Given the description of an element on the screen output the (x, y) to click on. 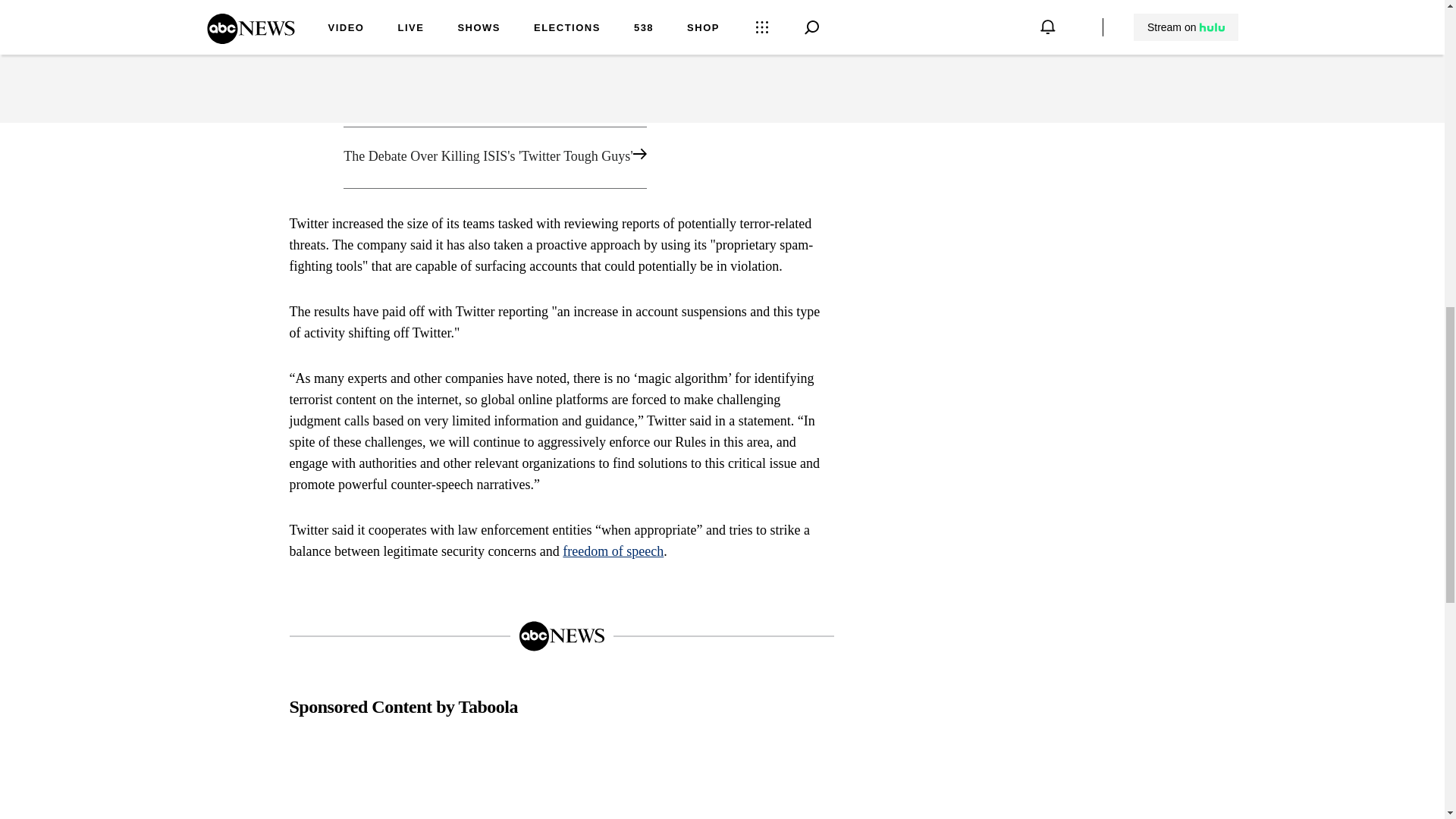
If you own a mouse, play it for 1 minute. (376, 780)
Celebrity Wedding Photos That Are Just Priceless (560, 780)
Sponsored Content by Taboola (403, 707)
freedom of speech (612, 550)
The Debate Over Killing ISIS's 'Twitter Tough Guys' (560, 157)
